Given the description of an element on the screen output the (x, y) to click on. 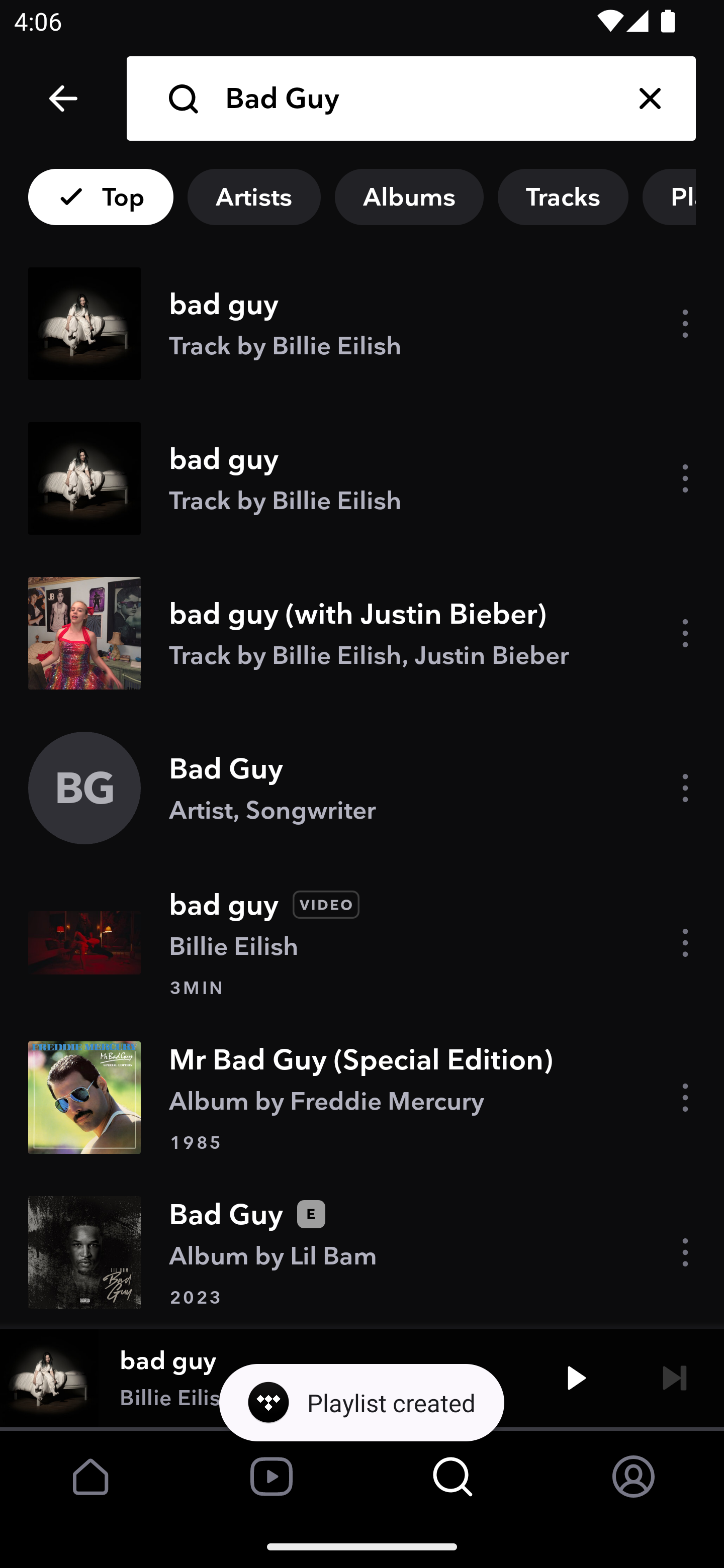
Clear query (650, 98)
Bad Guy (414, 98)
Top (100, 197)
Artists (253, 197)
Albums (408, 197)
Tracks (563, 197)
Playlists (683, 197)
bad guy Track by Billie Eilish (362, 323)
bad guy Track by Billie Eilish (362, 478)
BG Bad Guy Artist, Songwriter (362, 787)
bad guy Billie Eilish 3MIN (362, 942)
Bad Guy Album by Lil Bam 2023 (362, 1251)
bad guy Billie Eilish Play (362, 1377)
Play (576, 1377)
